Given the description of an element on the screen output the (x, y) to click on. 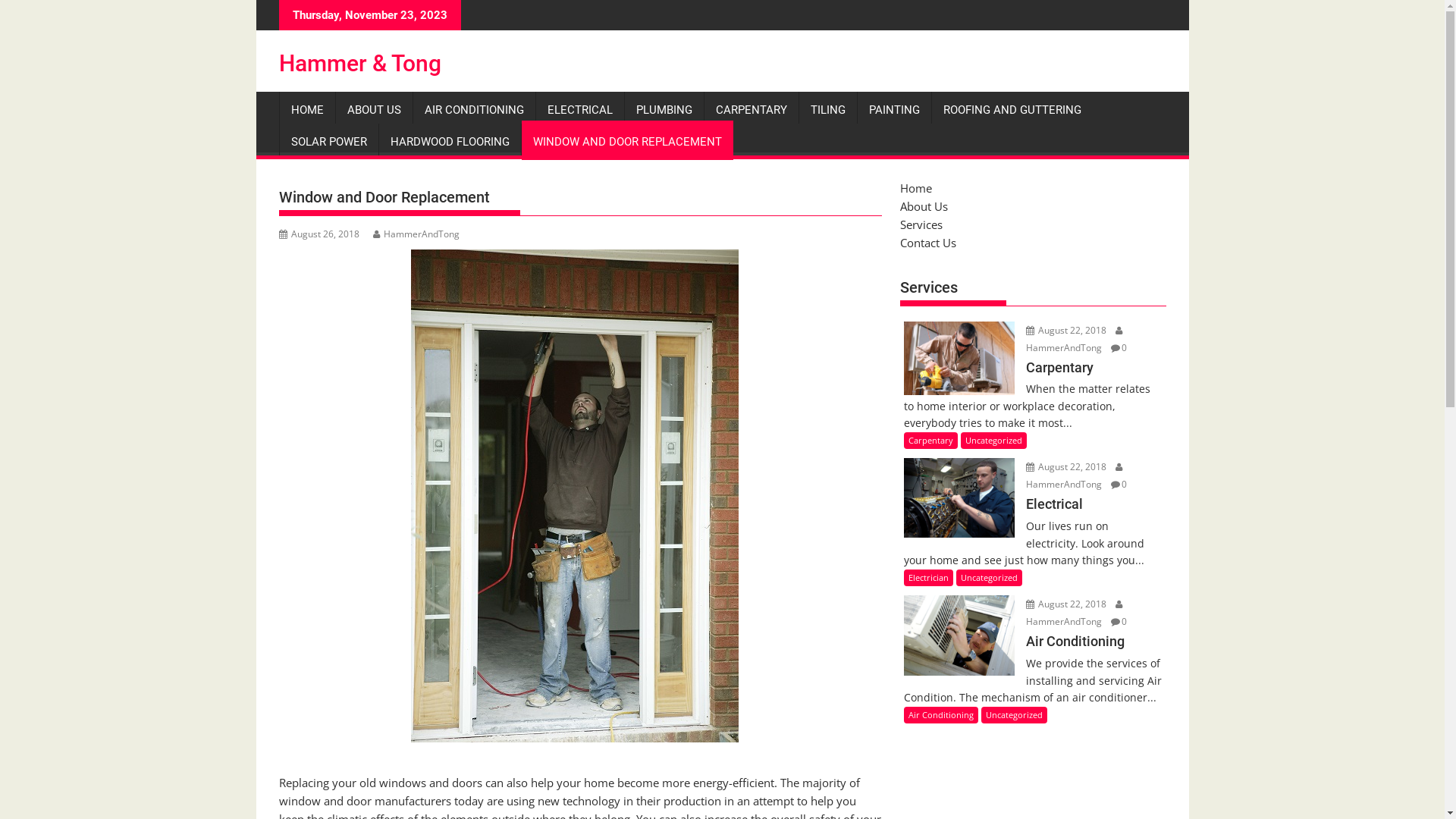
CARPENTARY Element type: text (750, 109)
ABOUT US Element type: text (373, 109)
Carpentary Element type: text (1032, 377)
ELECTRICAL Element type: text (579, 109)
Services Element type: text (920, 224)
Hammer & Tong Element type: text (360, 63)
Contact Us Element type: text (927, 242)
TILING Element type: text (827, 109)
0 Element type: text (1118, 483)
AIR CONDITIONING Element type: text (473, 109)
Uncategorized Element type: text (988, 577)
Air Conditioning Element type: text (940, 714)
HammerAndTong Element type: text (1074, 475)
HammerAndTong Element type: text (1074, 612)
August 26, 2018 Element type: text (319, 233)
WINDOW AND DOOR REPLACEMENT Element type: text (627, 141)
0 Element type: text (1118, 621)
Electrical Element type: text (1032, 514)
Electrician Element type: text (928, 577)
Skip to content Element type: text (256, 0)
ROOFING AND GUTTERING Element type: text (1011, 109)
HammerAndTong Element type: text (416, 233)
HOME Element type: text (306, 109)
HARDWOOD FLOORING Element type: text (449, 141)
About Us Element type: text (923, 205)
Home Element type: text (915, 187)
August 22, 2018 Element type: text (1067, 466)
PAINTING Element type: text (893, 109)
Carpentary Element type: text (930, 440)
PLUMBING Element type: text (663, 109)
HammerAndTong Element type: text (1074, 338)
August 22, 2018 Element type: text (1067, 603)
Air Conditioning Element type: text (1032, 651)
Uncategorized Element type: text (993, 440)
Uncategorized Element type: text (1014, 714)
0 Element type: text (1118, 347)
August 22, 2018 Element type: text (1067, 329)
SOLAR POWER Element type: text (328, 141)
